Given the description of an element on the screen output the (x, y) to click on. 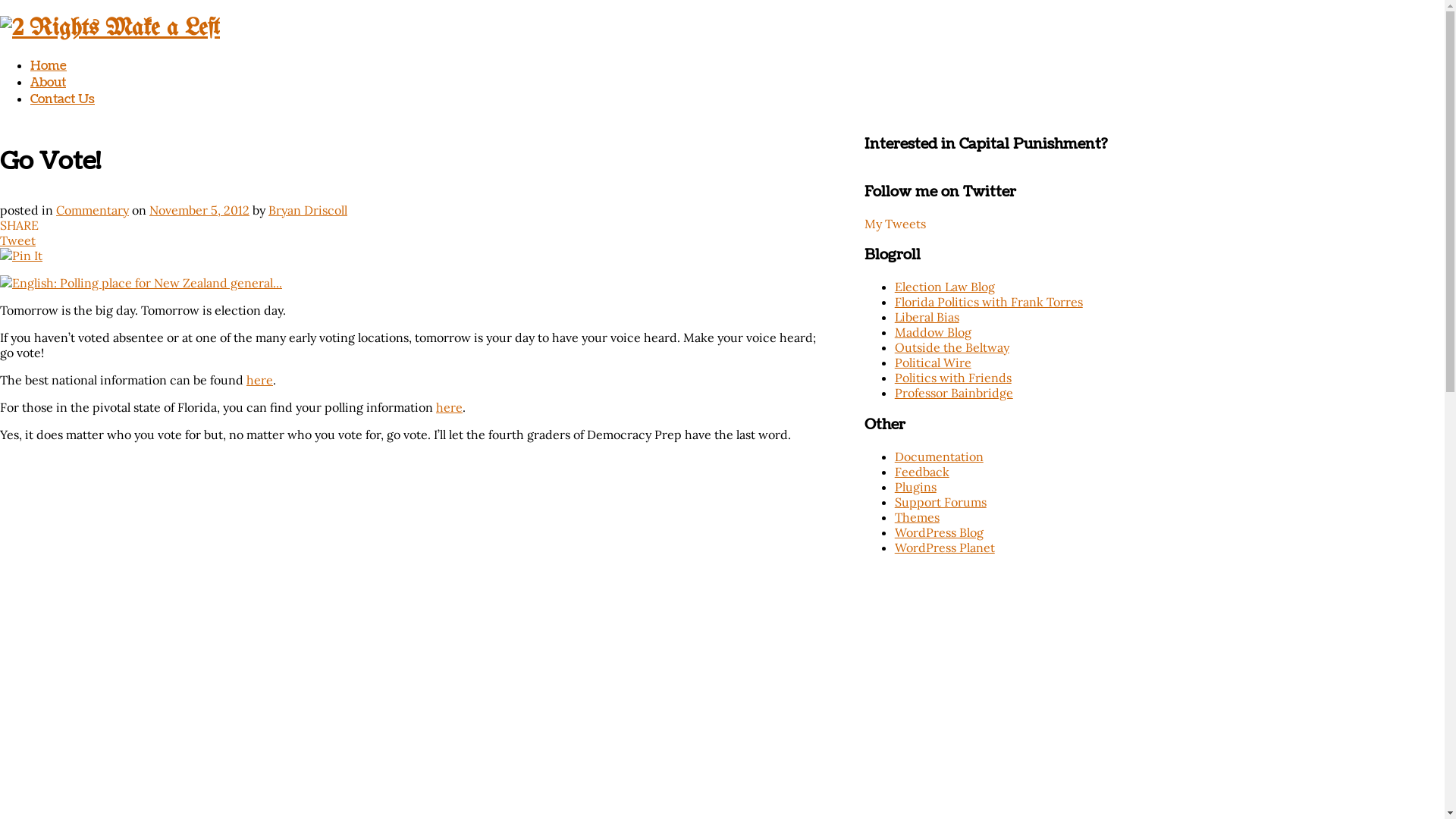
Politics with Friends Element type: text (952, 377)
here Element type: text (259, 379)
Liberal Bias Element type: text (926, 316)
November 5, 2012 Element type: text (199, 209)
here Element type: text (449, 406)
Outside the Beltway Element type: text (951, 346)
Themes Element type: text (916, 516)
Tweet Element type: text (17, 239)
About Element type: text (47, 82)
Maddow Blog Element type: text (932, 331)
Florida Politics with Frank Torres Element type: text (988, 301)
Feedback Element type: text (921, 471)
Election Law Blog Element type: text (944, 286)
Documentation Element type: text (938, 456)
English: Polling place for New Zealand general... Element type: hover (141, 282)
WordPress Blog Element type: text (938, 531)
Plugins Element type: text (915, 486)
Political Wire Element type: text (932, 362)
Support Forums Element type: text (940, 501)
Bryan Driscoll Element type: text (307, 209)
My Tweets Element type: text (894, 223)
Commentary Element type: text (92, 209)
Contact Us Element type: text (62, 99)
SHARE Element type: text (19, 224)
WordPress Planet Element type: text (944, 547)
Pin It Element type: hover (21, 255)
Home Element type: text (48, 65)
Professor Bainbridge Element type: text (953, 392)
